Given the description of an element on the screen output the (x, y) to click on. 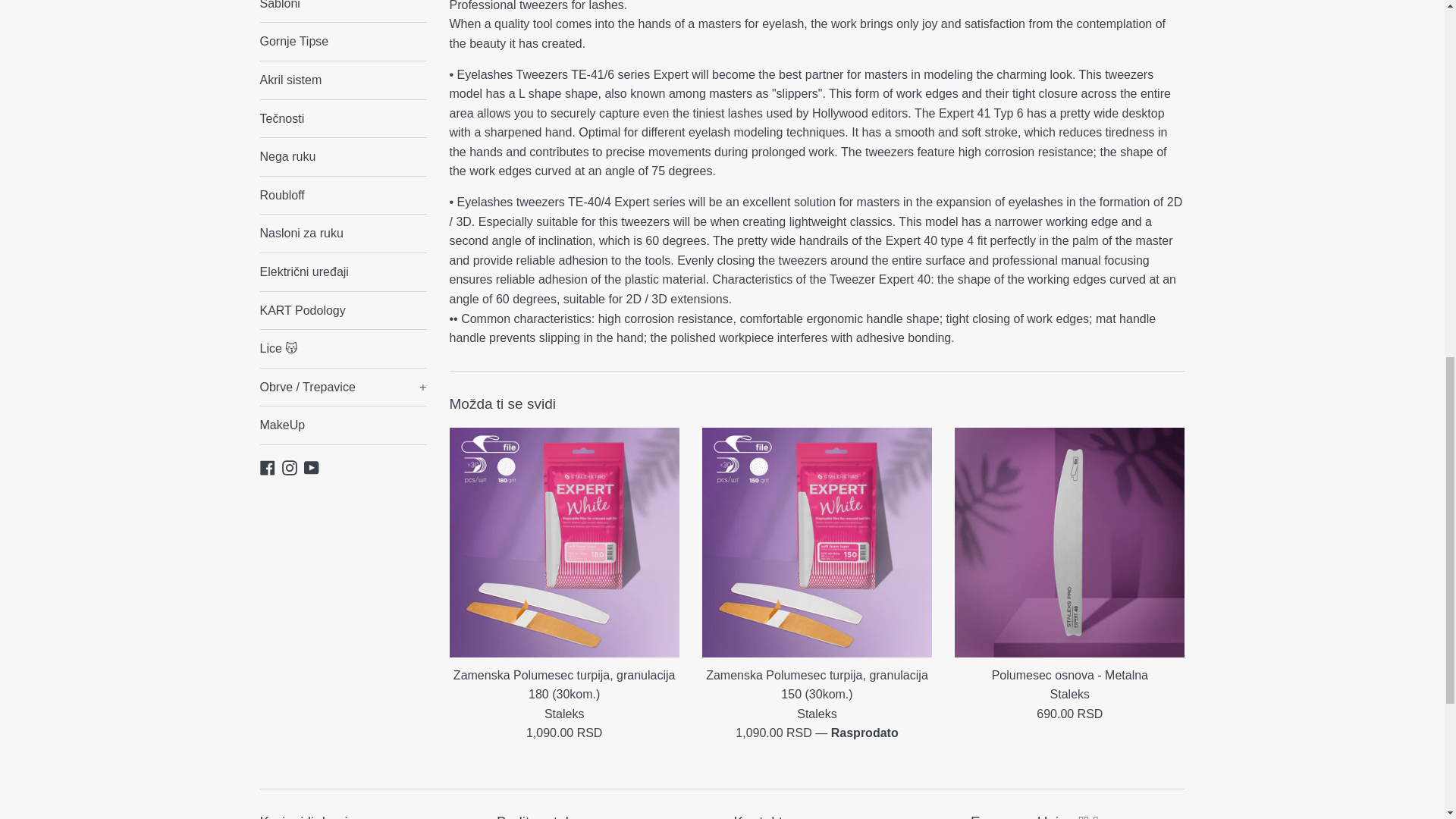
Manikirshop na YouTube (311, 466)
Manikirshop na Instagram (289, 466)
Manikirshop na Facebook (267, 466)
Polumesec osnova - Metalna (1070, 542)
